Given the description of an element on the screen output the (x, y) to click on. 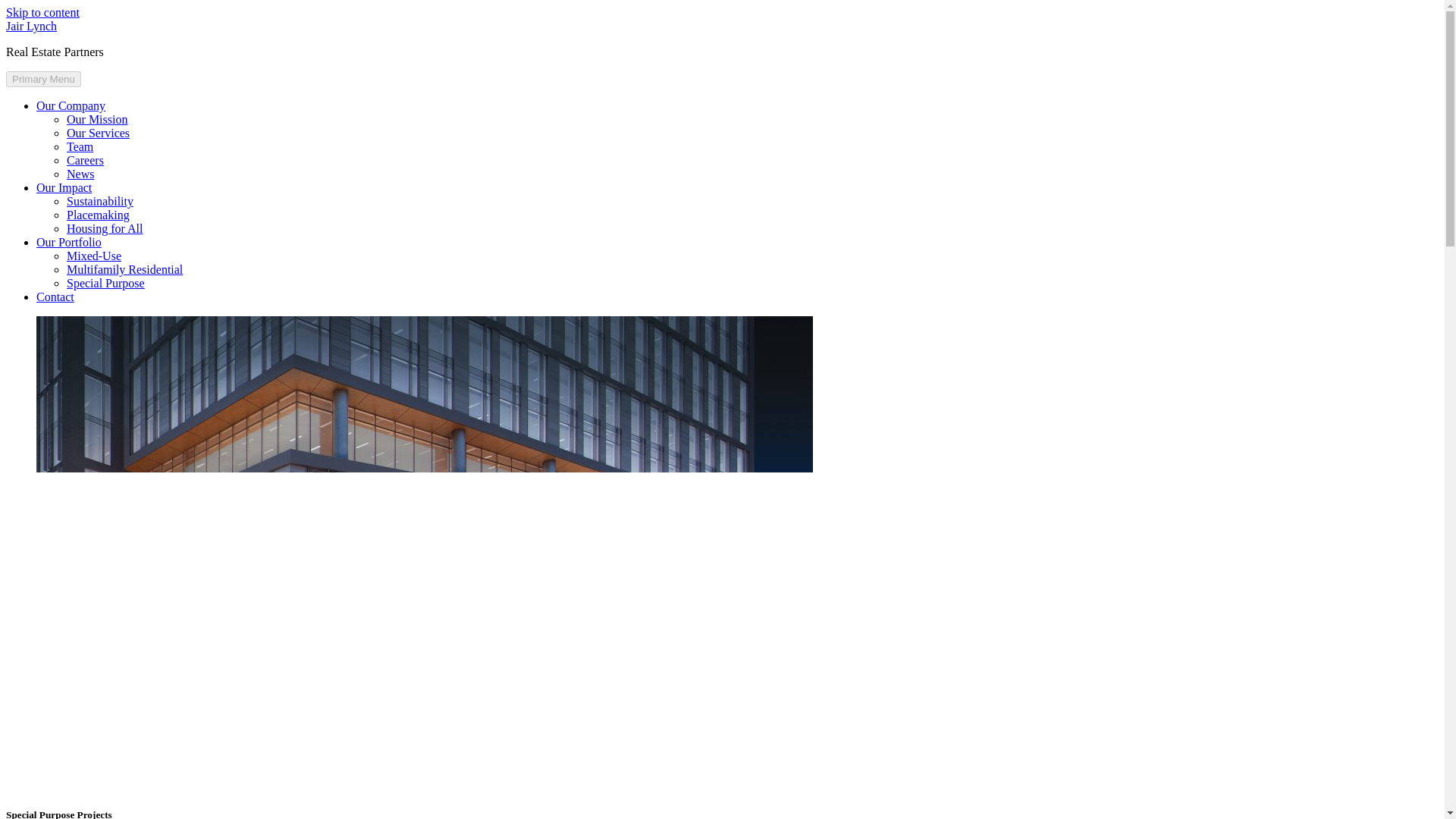
Jair Lynch (30, 25)
Mixed-Use (93, 255)
Our Portfolio (68, 241)
Placemaking (97, 214)
Our Company (70, 105)
Team (79, 146)
Special Purpose (105, 282)
Our Impact (63, 187)
Primary Menu (43, 78)
Skip to content (42, 11)
News (80, 173)
Sustainability (99, 201)
Our Services (97, 132)
Contact (55, 296)
Careers (84, 160)
